Given the description of an element on the screen output the (x, y) to click on. 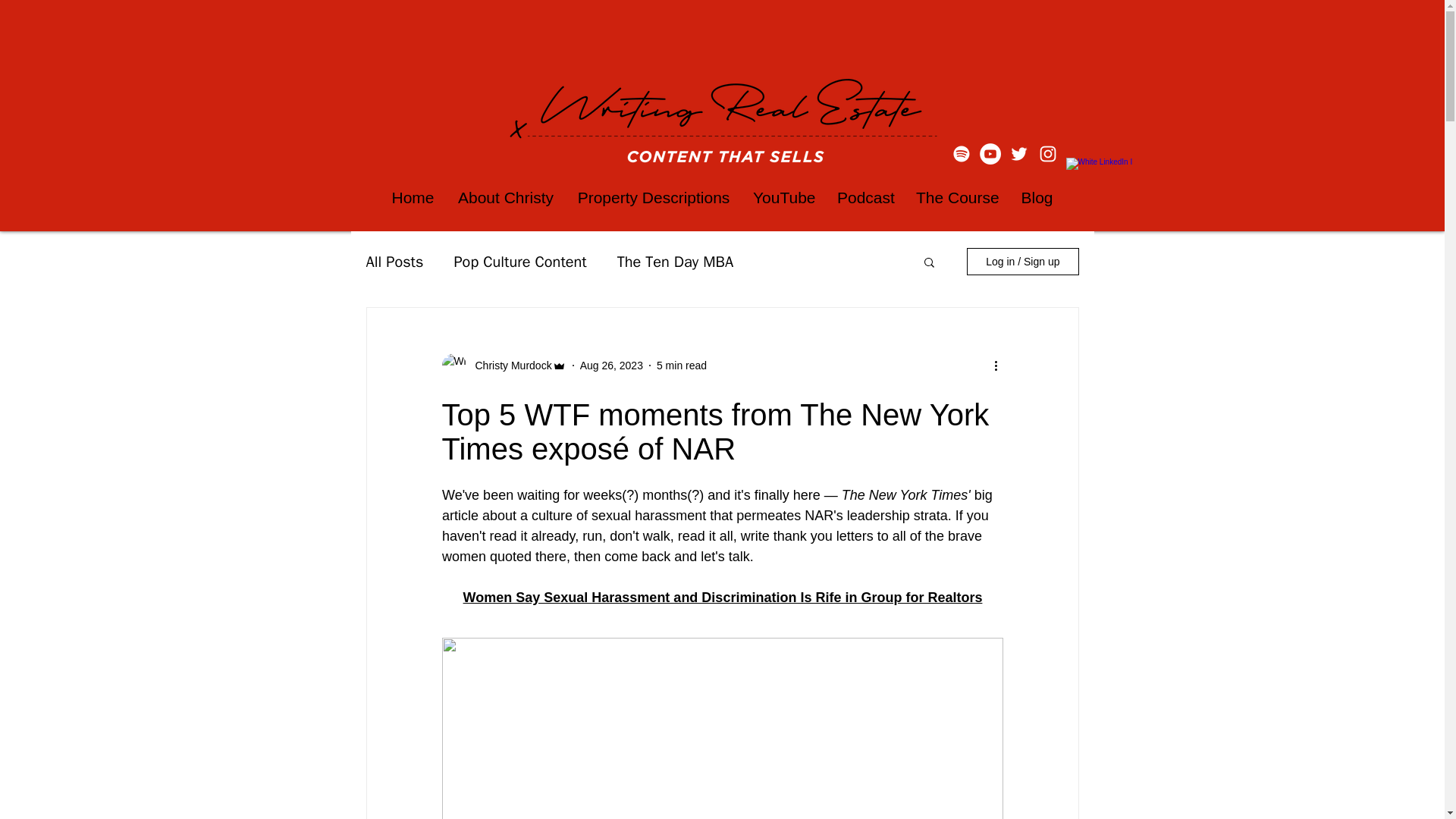
Aug 26, 2023 (611, 365)
Property Descriptions (653, 197)
All Posts (394, 261)
About Christy (505, 197)
The Course (956, 197)
The Ten Day MBA (675, 261)
Podcast (864, 197)
Pop Culture Content (519, 261)
Christy Murdock (508, 365)
5 min read (681, 365)
Home (412, 197)
YouTube (783, 197)
